Given the description of an element on the screen output the (x, y) to click on. 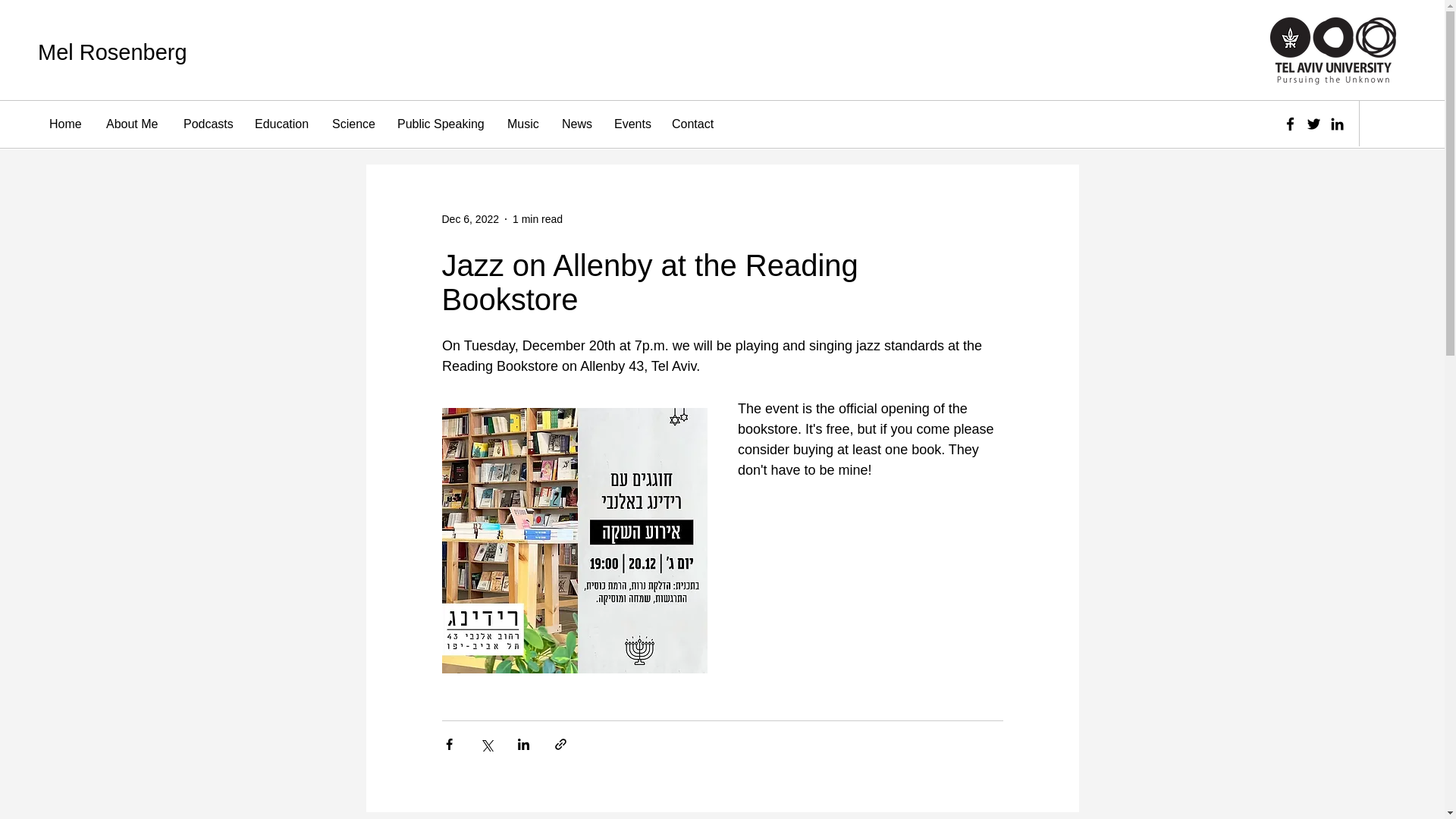
Mel Rosenberg (112, 52)
Education (281, 124)
About Me (132, 124)
Dec 6, 2022 (470, 218)
News (576, 124)
Podcasts (207, 124)
Contact (693, 124)
Events (631, 124)
Public Speaking (440, 124)
Home (65, 124)
Music (523, 124)
1 min read (537, 218)
Science (352, 124)
